Given the description of an element on the screen output the (x, y) to click on. 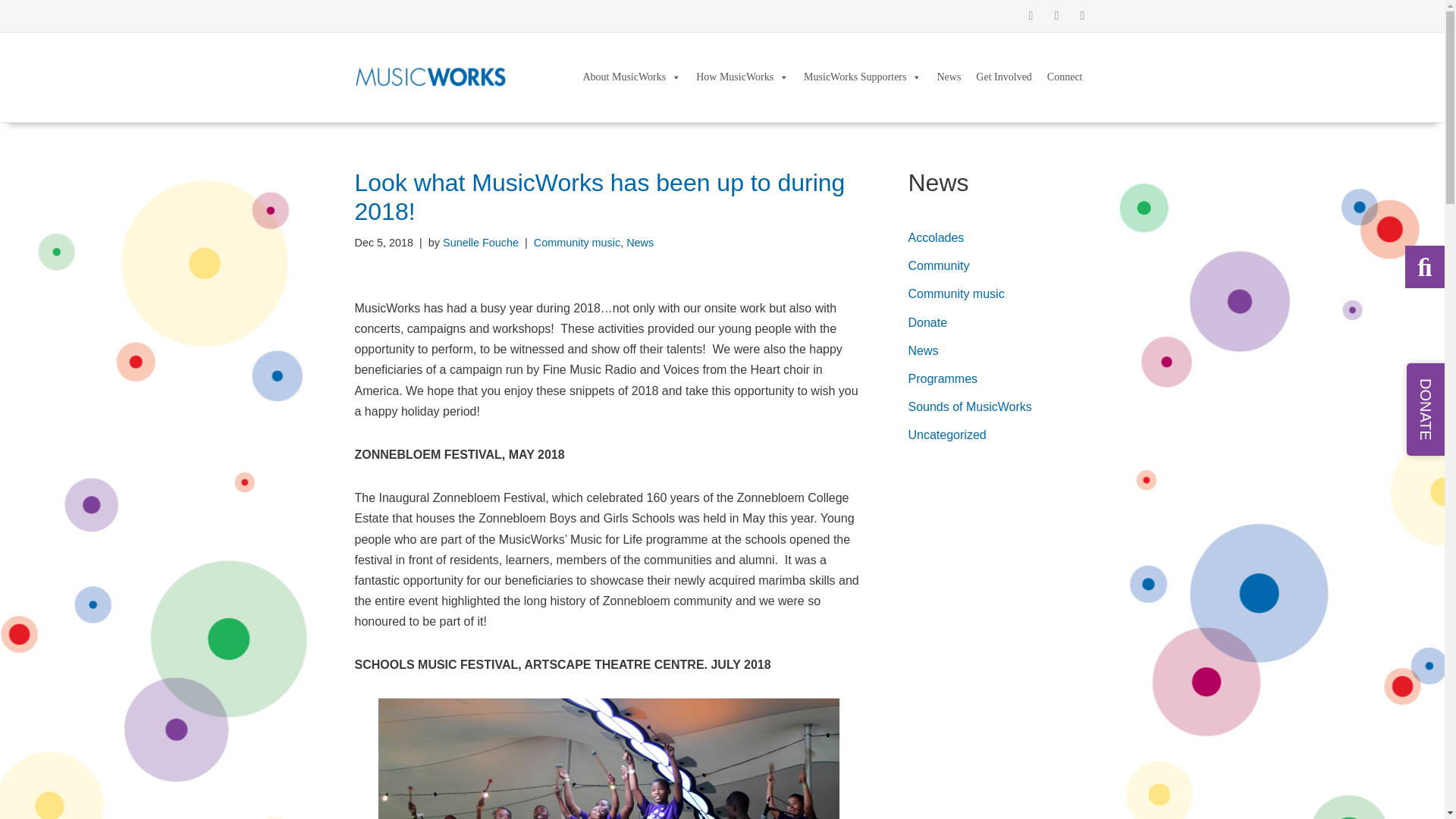
About MusicWorks (631, 77)
Posts by Sunelle Fouche (480, 242)
News (948, 77)
Connect (1064, 77)
MusicWorks (430, 76)
How MusicWorks (742, 77)
MusicWorks Supporters (862, 77)
Get Involved (1003, 77)
Skip to content (11, 31)
